Given the description of an element on the screen output the (x, y) to click on. 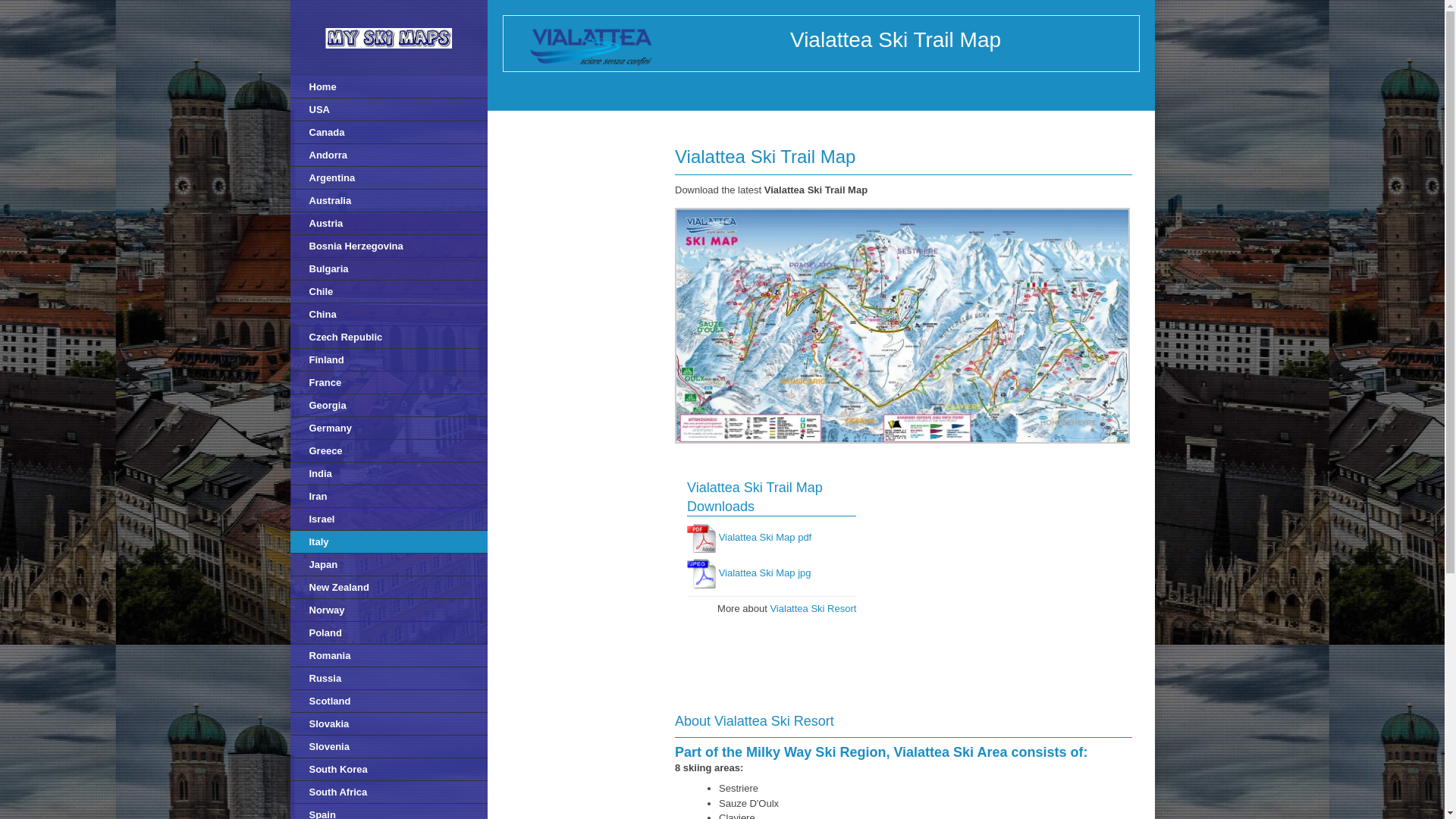
Vialattea Ski Trail Map jpg (764, 572)
Andorra (387, 155)
Advertisement (997, 582)
Home (387, 87)
Vialattea Ski Trail Map pdf (765, 537)
USA (387, 109)
Argentina (387, 178)
Canada (387, 132)
My Ski Maps (387, 37)
